Given the description of an element on the screen output the (x, y) to click on. 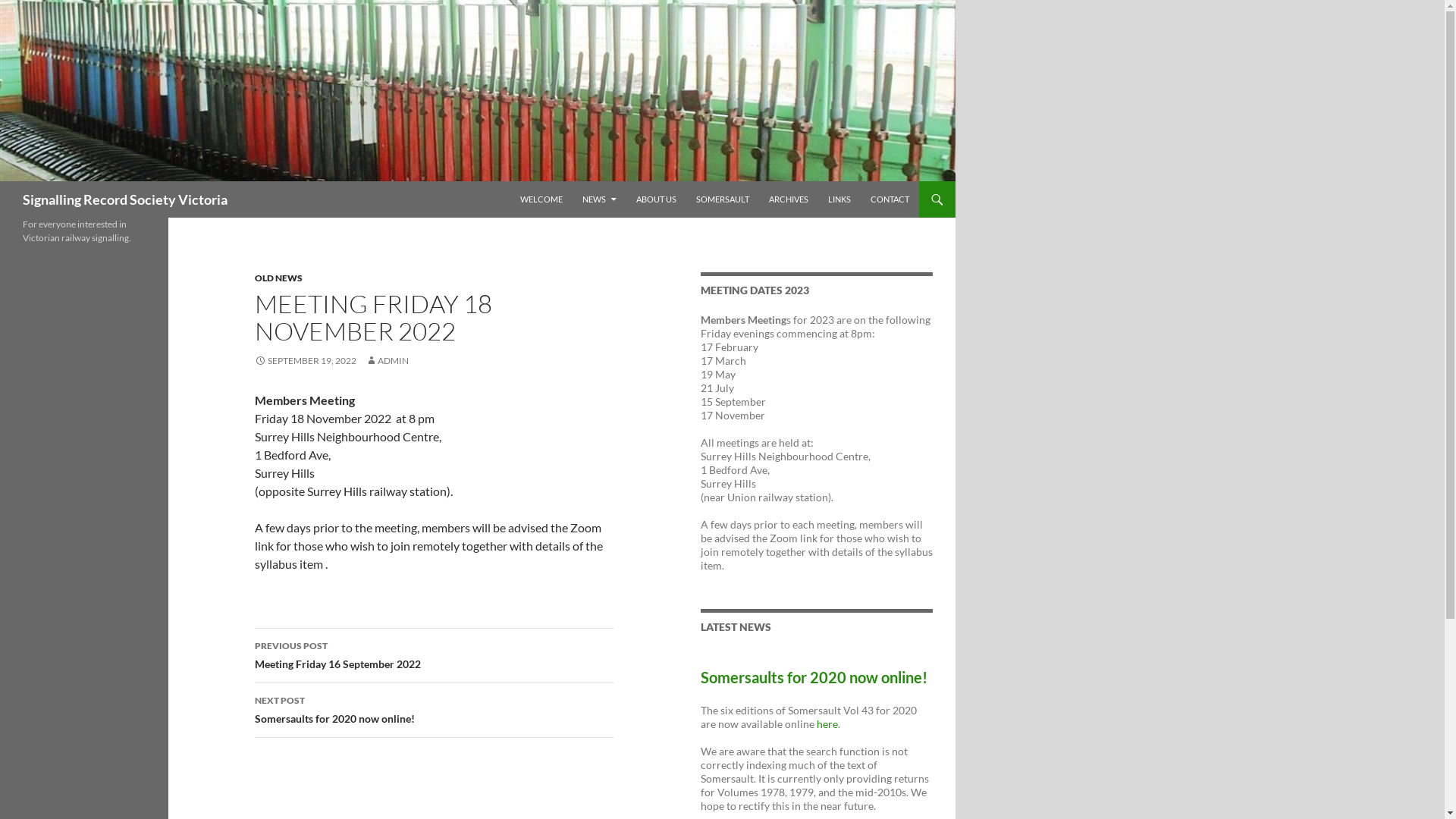
PREVIOUS POST
Meeting Friday 16 September 2022 Element type: text (434, 655)
SOMERSAULT Element type: text (722, 199)
here Element type: text (826, 723)
ADMIN Element type: text (386, 360)
LINKS Element type: text (839, 199)
OLD NEWS Element type: text (278, 277)
ARCHIVES Element type: text (788, 199)
NEXT POST
Somersaults for 2020 now online! Element type: text (434, 710)
Search Element type: text (3, 180)
SKIP TO CONTENT Element type: text (519, 180)
WELCOME Element type: text (541, 199)
CONTACT Element type: text (889, 199)
NEWS Element type: text (599, 199)
SEPTEMBER 19, 2022 Element type: text (305, 360)
ABOUT US Element type: text (656, 199)
Signalling Record Society Victoria Element type: text (124, 199)
Somersaults for 2020 now online! Element type: text (813, 677)
